Given the description of an element on the screen output the (x, y) to click on. 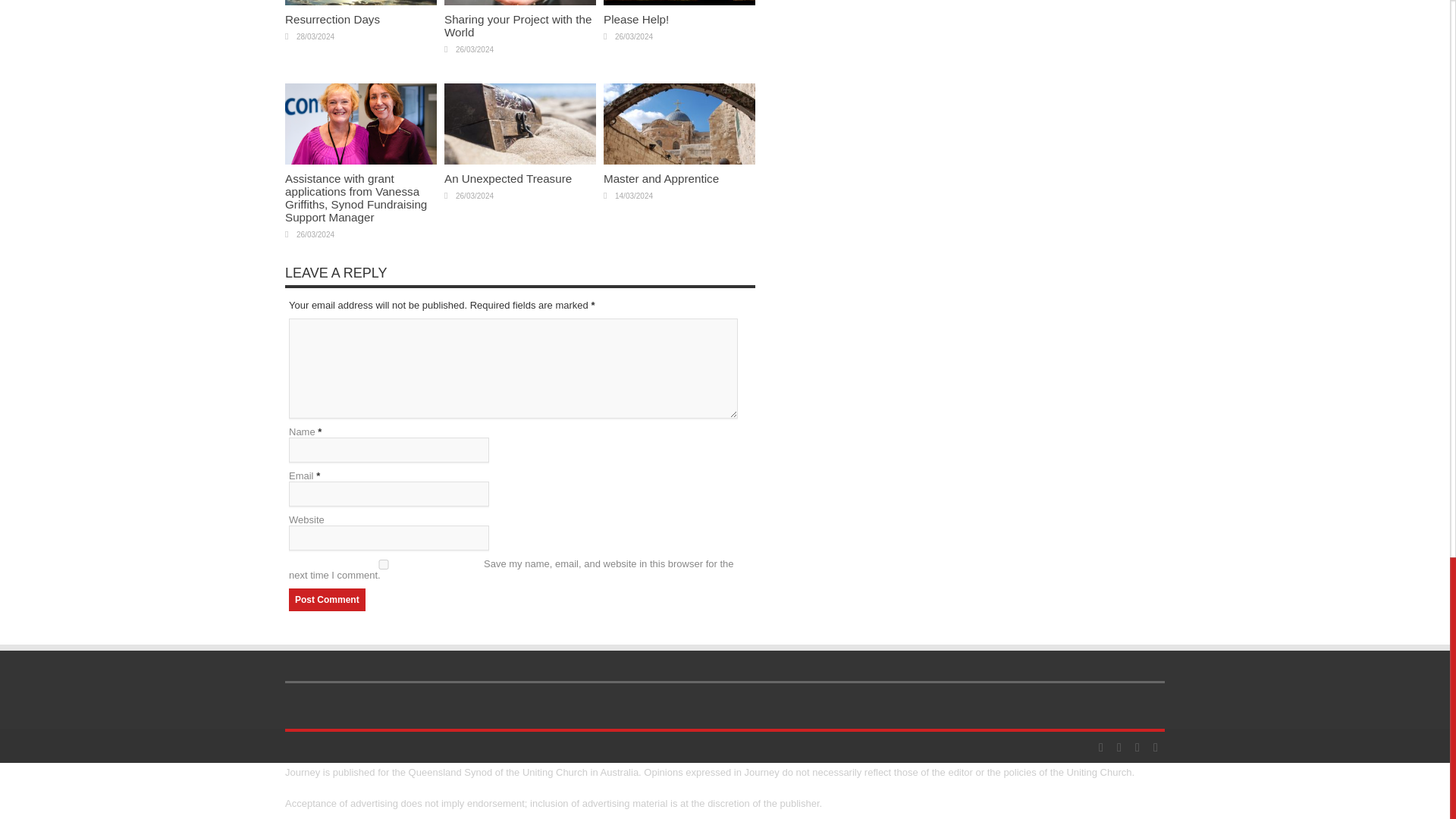
Permalink to Sharing your Project with the World (519, 3)
Permalink to Please Help! (679, 3)
Permalink to Resurrection Days (332, 19)
Permalink to Resurrection Days (360, 3)
Permalink to An Unexpected Treasure (519, 161)
Permalink to An Unexpected Treasure (508, 178)
An Unexpected Treasure (508, 178)
Permalink to Sharing your Project with the World (517, 25)
Resurrection Days (332, 19)
Sharing your Project with the World (517, 25)
Permalink to Please Help! (636, 19)
Master and Apprentice (661, 178)
yes (383, 564)
